Given the description of an element on the screen output the (x, y) to click on. 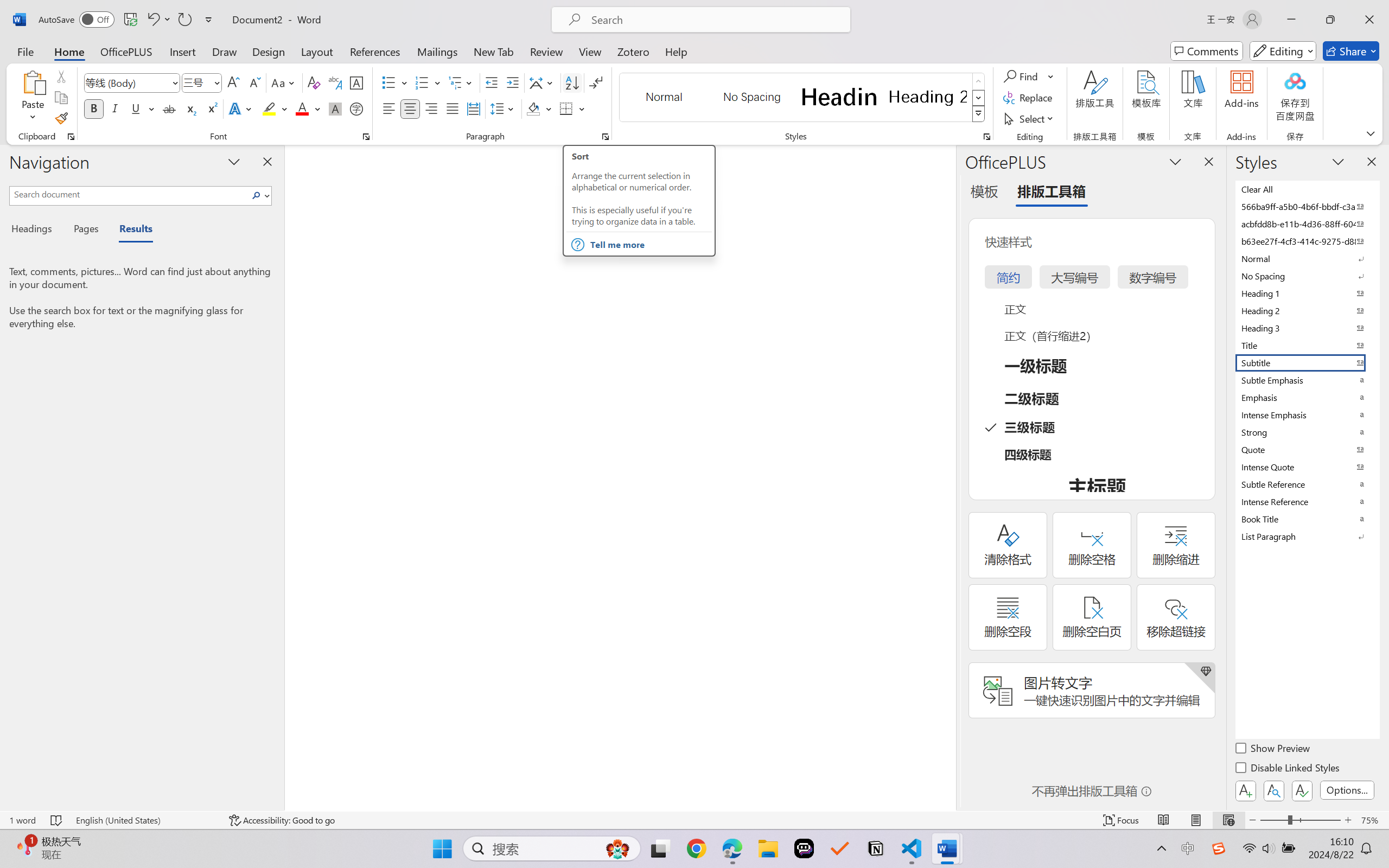
No Spacing (1306, 275)
Subtle Reference (1306, 484)
Results (130, 229)
List Paragraph (1306, 536)
Mode (1283, 50)
Font Size (196, 82)
Heading 3 (1306, 327)
Line and Paragraph Spacing (503, 108)
Font (132, 82)
Emphasis (1306, 397)
Class: NetUIScrollBar (948, 477)
Styles... (986, 136)
